Given the description of an element on the screen output the (x, y) to click on. 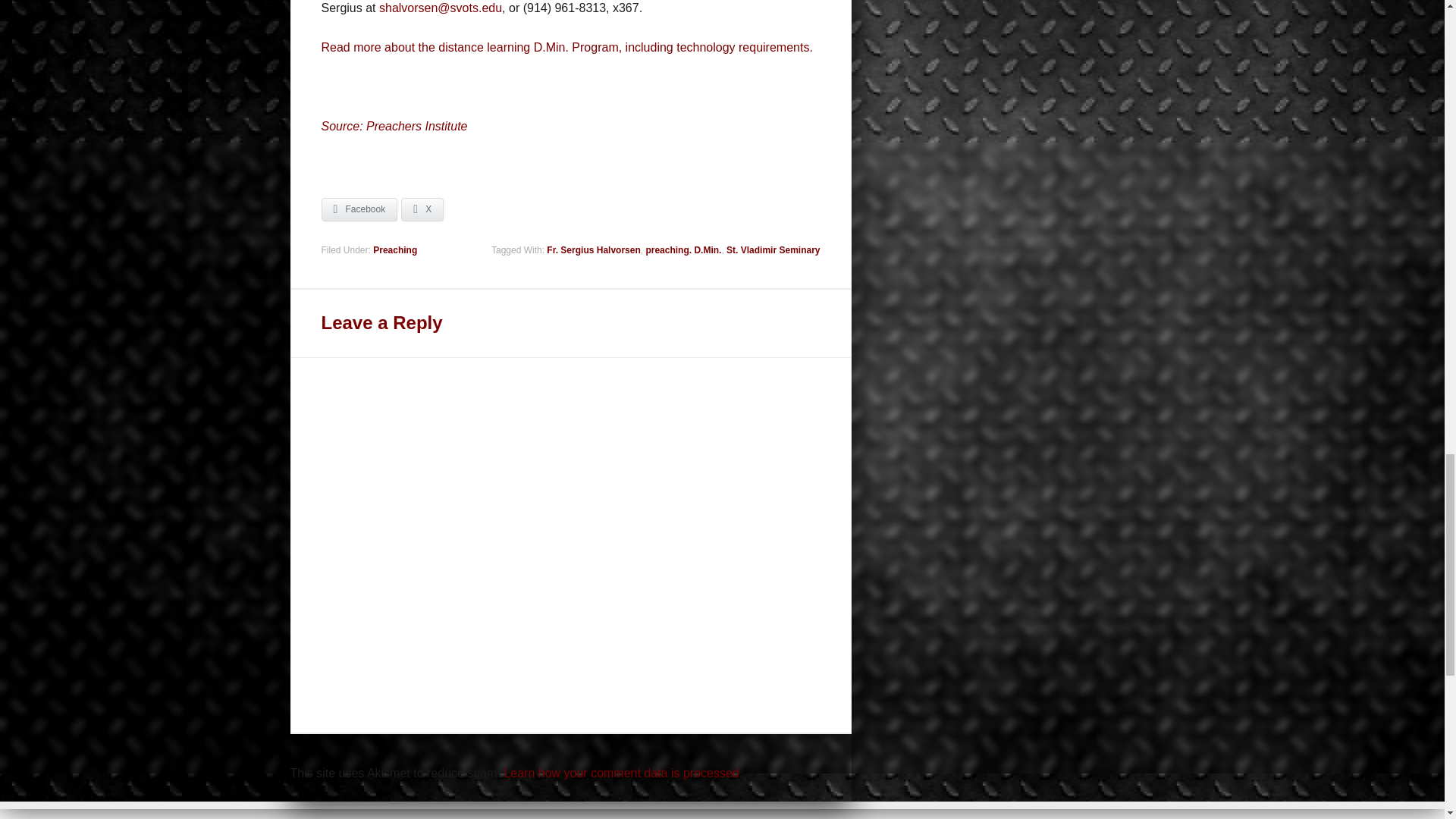
Share this article on X (422, 209)
Share this article on Facebook (359, 209)
